Given the description of an element on the screen output the (x, y) to click on. 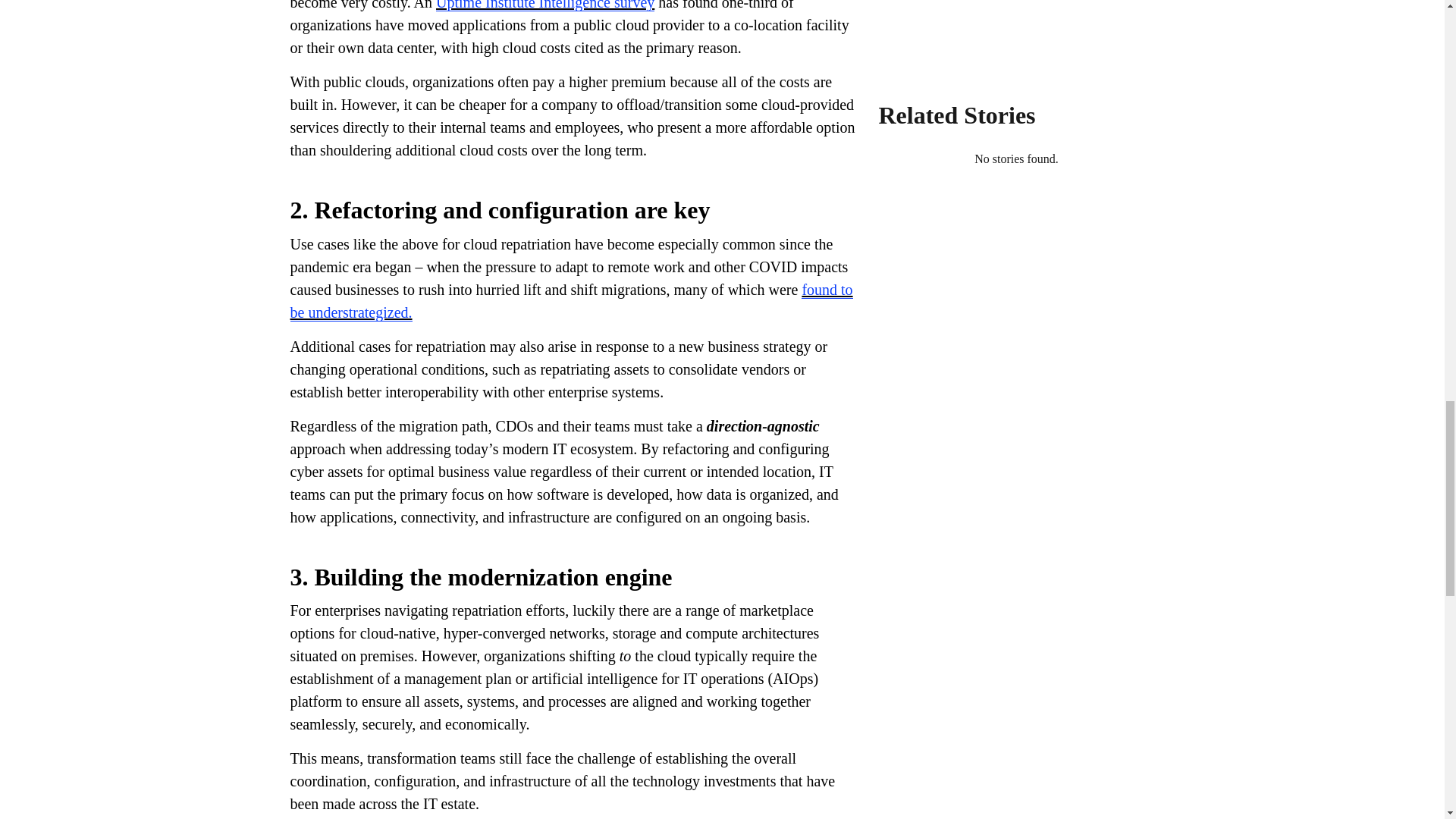
Uptime Institute Intelligence survey (544, 5)
found to be understrategized. (570, 301)
